Given the description of an element on the screen output the (x, y) to click on. 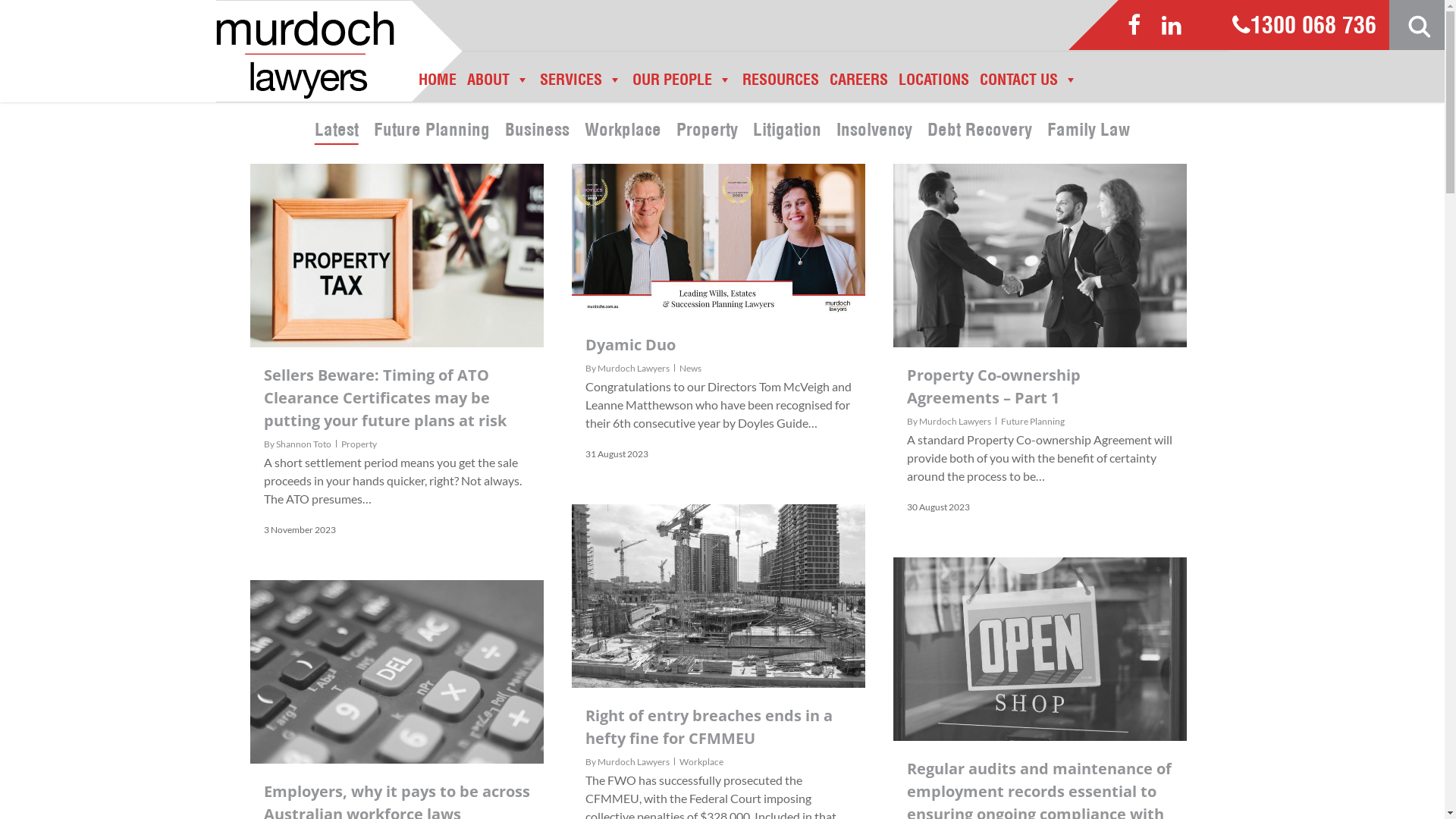
Latest Element type: text (336, 129)
Workplace Element type: text (701, 761)
Family Law Element type: text (1088, 129)
Murdoch Lawyers Element type: text (633, 367)
LOCATIONS Element type: text (933, 85)
Future Planning Element type: text (431, 129)
Insolvency Element type: text (874, 129)
OUR PEOPLE Element type: text (681, 85)
Future Planning Element type: text (1032, 420)
Right of entry breaches ends in a hefty fine for CFMMEU Element type: text (708, 726)
Workplace Element type: text (622, 129)
Dyamic Duo Element type: text (630, 344)
Litigation Element type: text (787, 129)
CAREERS Element type: text (858, 85)
Property Element type: text (706, 129)
Murdoch Lawyers Element type: text (955, 420)
HOME Element type: text (437, 85)
SERVICES Element type: text (580, 85)
Shannon Toto Element type: text (303, 443)
CONTACT US Element type: text (1028, 85)
1300 068 736 Element type: text (1304, 26)
Debt Recovery Element type: text (979, 129)
RESOURCES Element type: text (780, 85)
Business Element type: text (537, 129)
ABOUT Element type: text (498, 85)
Murdoch Lawyers Element type: text (633, 761)
News Element type: text (690, 367)
Property Element type: text (358, 443)
